Given the description of an element on the screen output the (x, y) to click on. 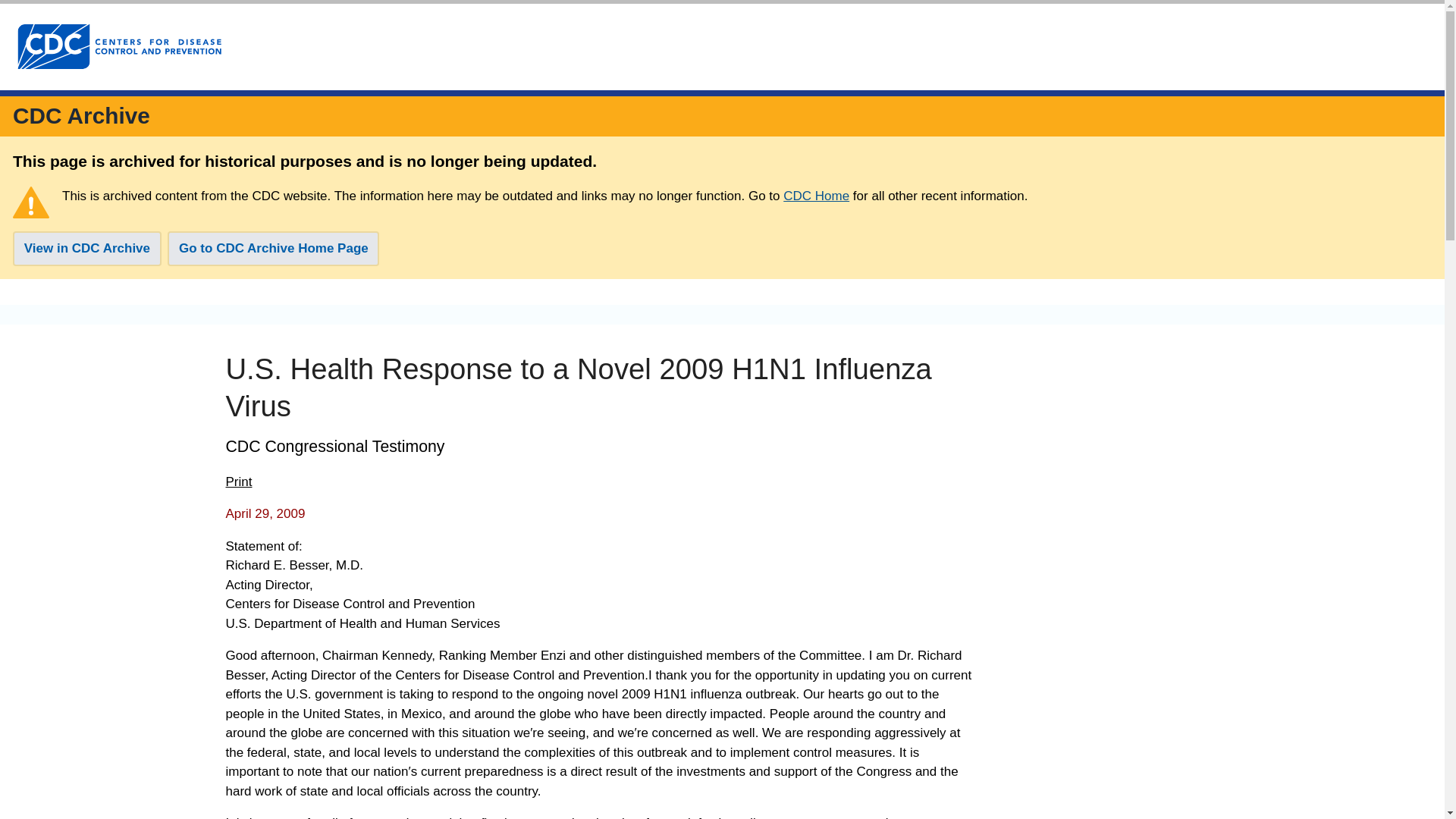
Print (238, 482)
Go to CDC Archive Home Page (272, 248)
View in CDC Archive (87, 248)
CDC Home (815, 196)
CDC Archive Home (81, 115)
CDC Archive (81, 115)
